Given the description of an element on the screen output the (x, y) to click on. 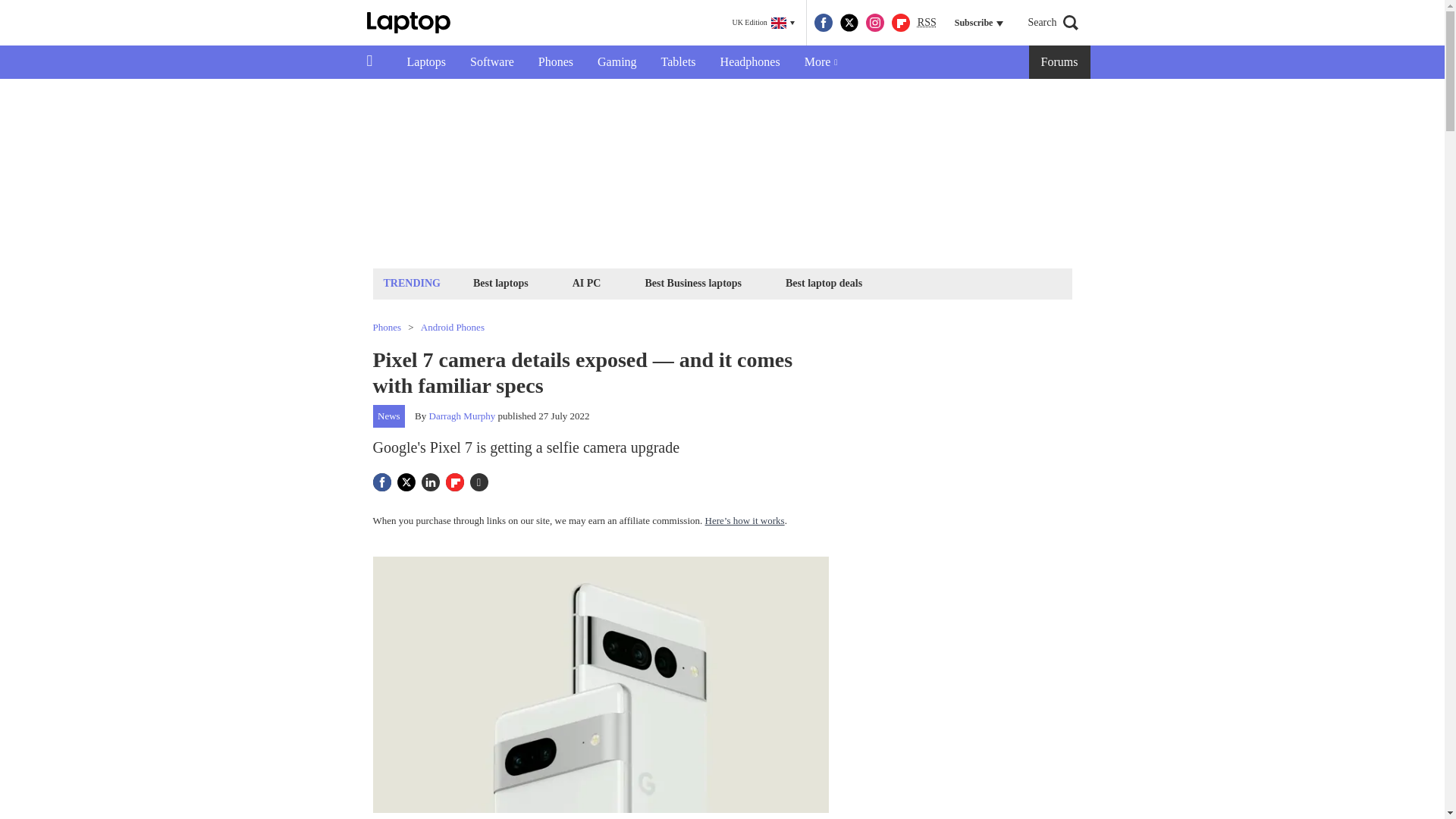
Headphones (749, 61)
UK Edition (762, 22)
Best laptops (500, 282)
Really Simple Syndication (926, 21)
Gaming (617, 61)
Best Business laptops (692, 282)
Tablets (678, 61)
AI PC (587, 282)
Laptops (426, 61)
Forums (1059, 61)
